Given the description of an element on the screen output the (x, y) to click on. 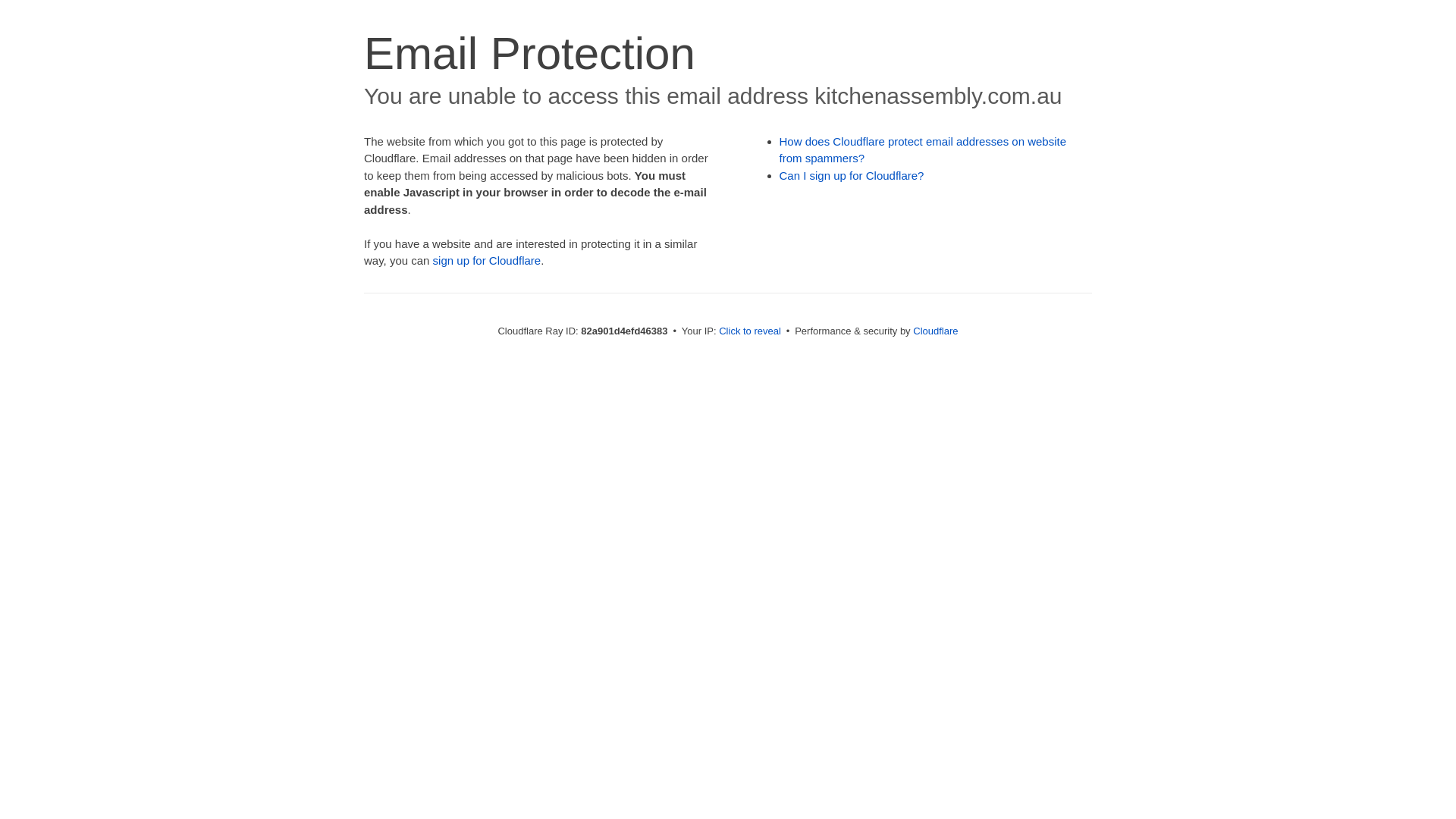
Can I sign up for Cloudflare? Element type: text (851, 175)
sign up for Cloudflare Element type: text (487, 260)
Click to reveal Element type: text (749, 330)
Cloudflare Element type: text (935, 330)
